Given the description of an element on the screen output the (x, y) to click on. 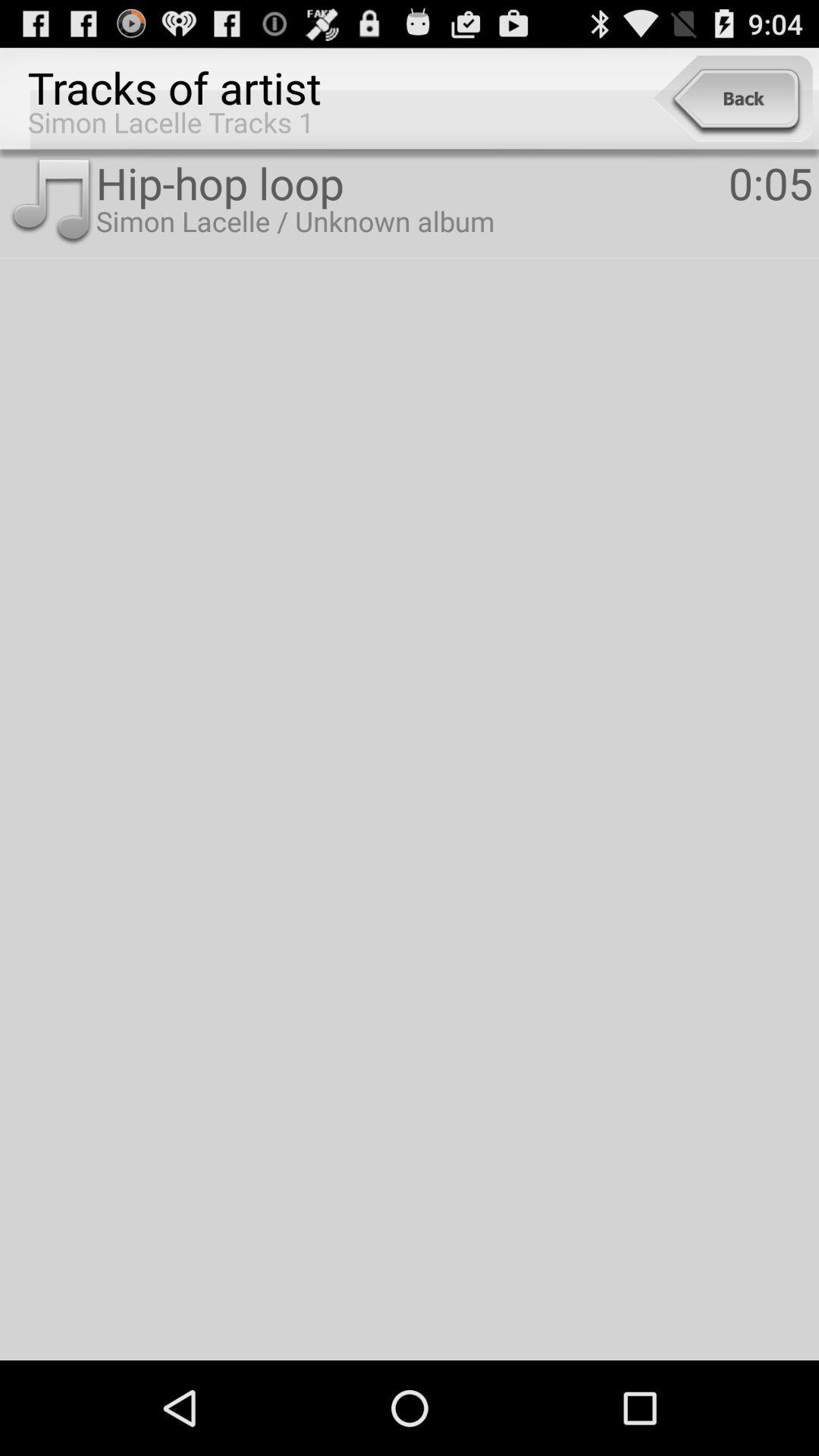
launch the 0:05 icon (770, 182)
